Given the description of an element on the screen output the (x, y) to click on. 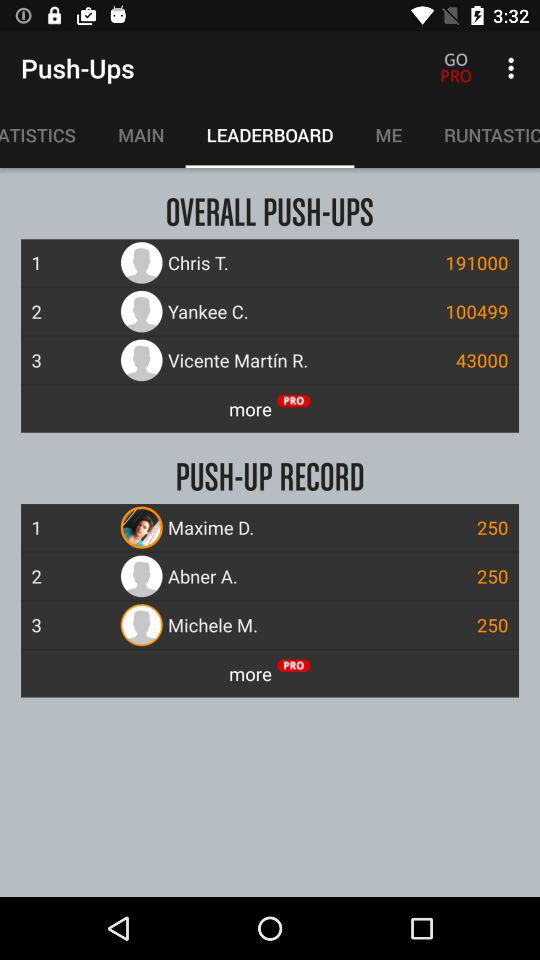
open the app below the push-ups (141, 135)
